Given the description of an element on the screen output the (x, y) to click on. 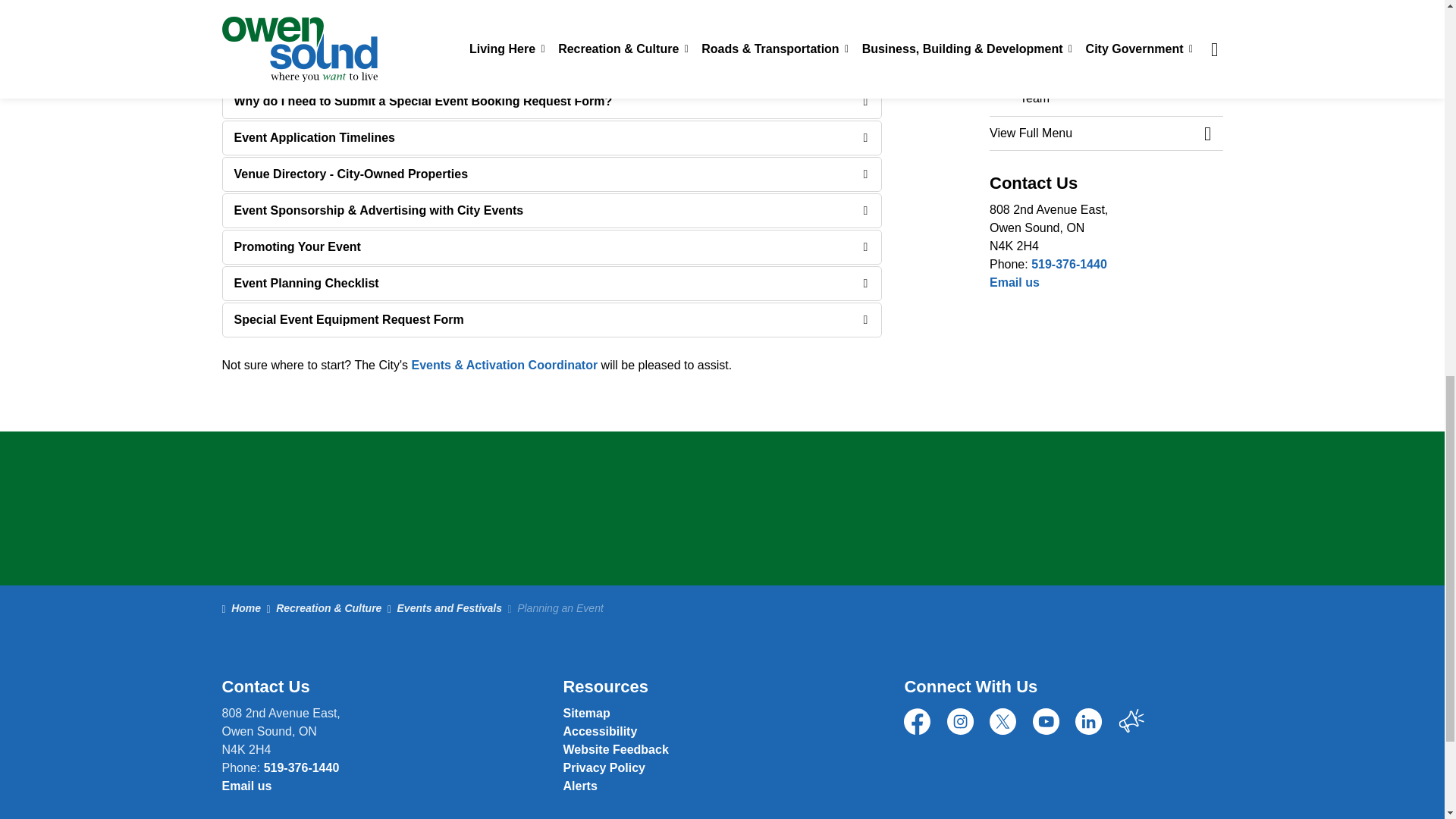
News and Public Notices (579, 785)
Privacy Policy (603, 767)
Contacts Directory (615, 748)
Contacts Directory (245, 785)
Contacts Directory (1014, 282)
Sitemap (586, 712)
Accessibility (599, 730)
Send an email to Events (503, 364)
